Given the description of an element on the screen output the (x, y) to click on. 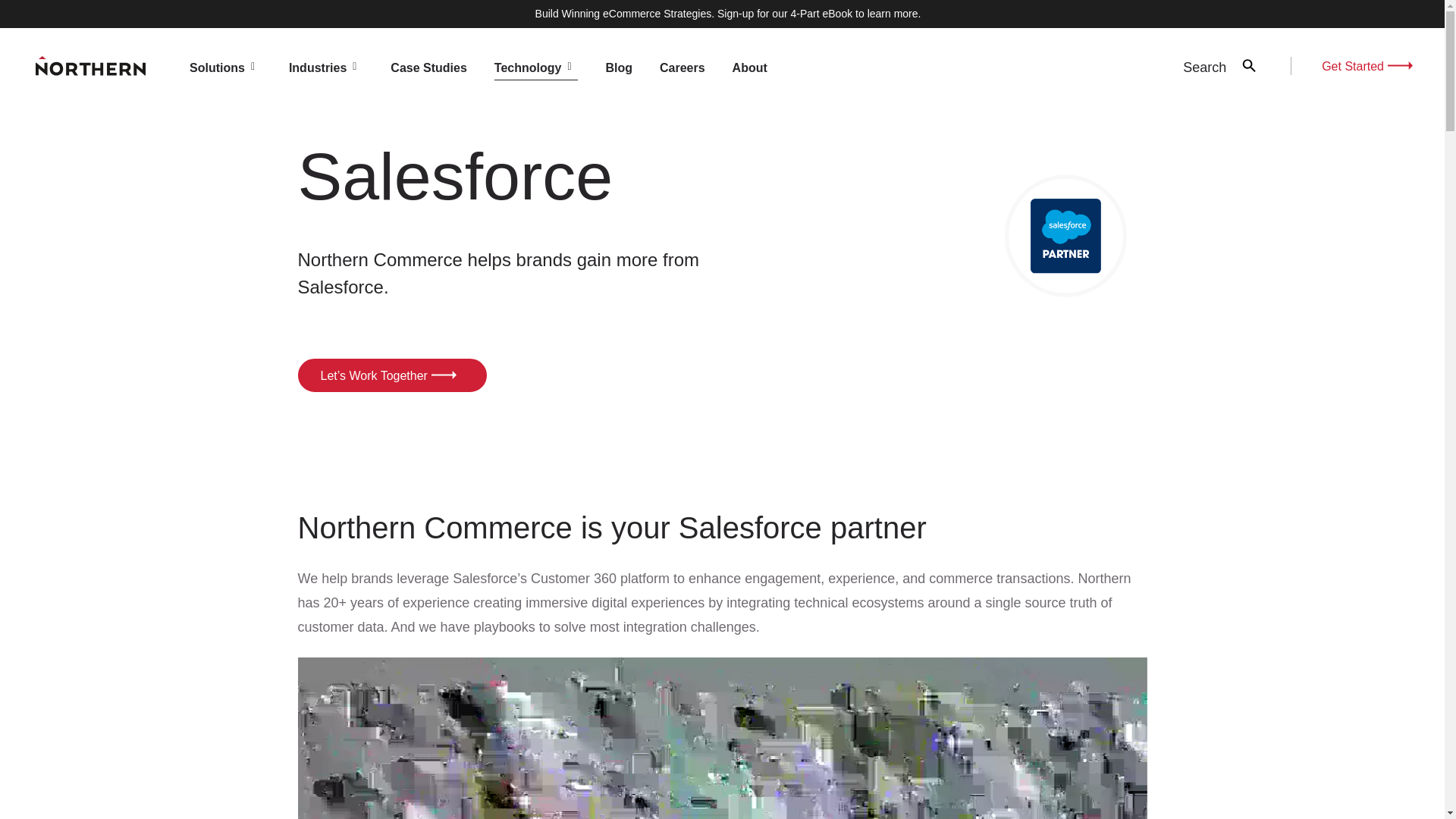
Industries (326, 66)
Case Studies (428, 66)
Home (89, 66)
Blog (618, 66)
Search (1248, 65)
Skip to main content (8, 9)
Northern Commerce Inc. (89, 66)
Technology (536, 66)
